Given the description of an element on the screen output the (x, y) to click on. 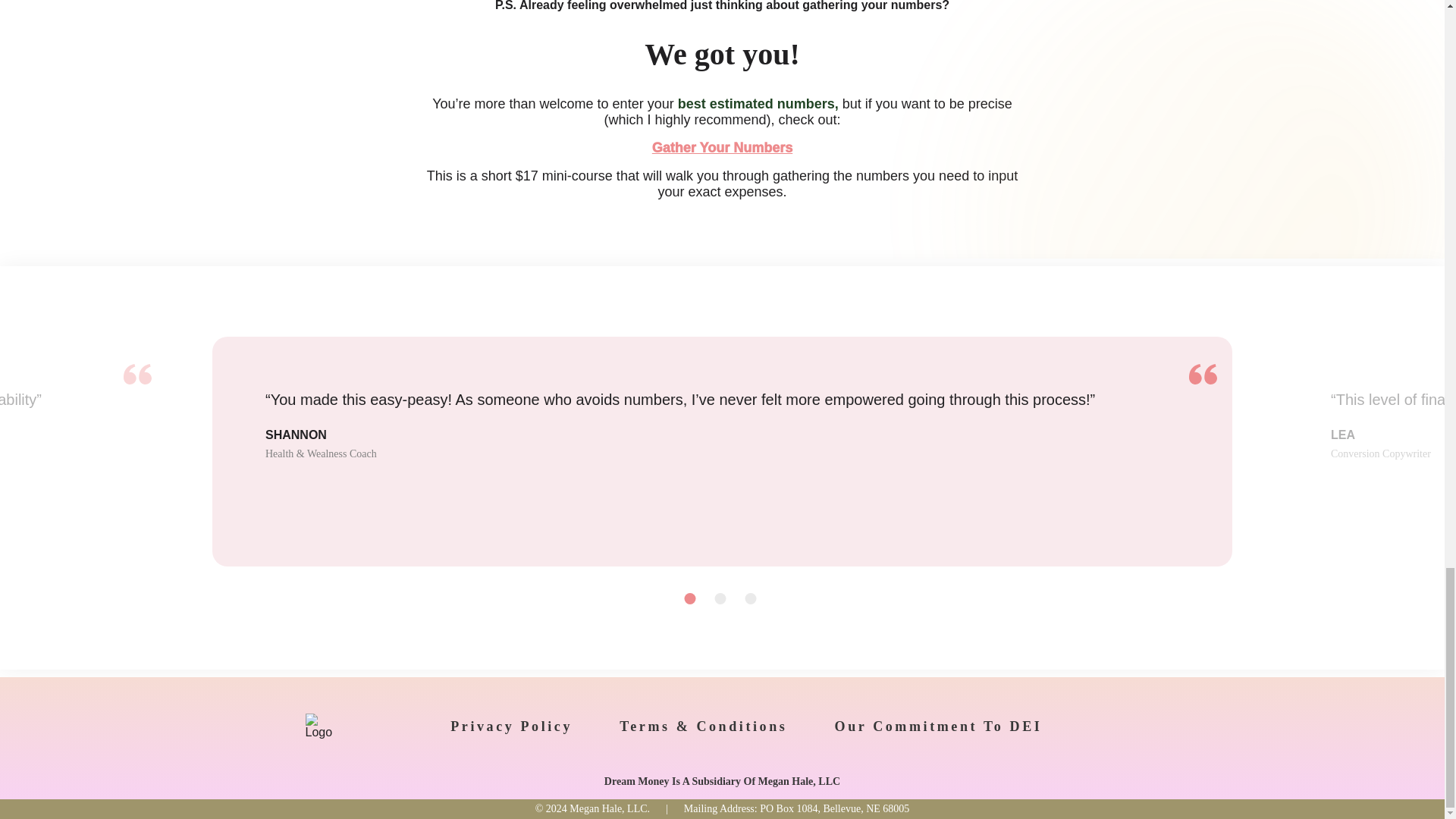
Next (823, 598)
2 (719, 598)
Our Commitment To DEI (938, 726)
Previous (622, 598)
3 (749, 598)
1 (689, 598)
Gather Your Numbers (722, 147)
Privacy Policy (510, 726)
